Given the description of an element on the screen output the (x, y) to click on. 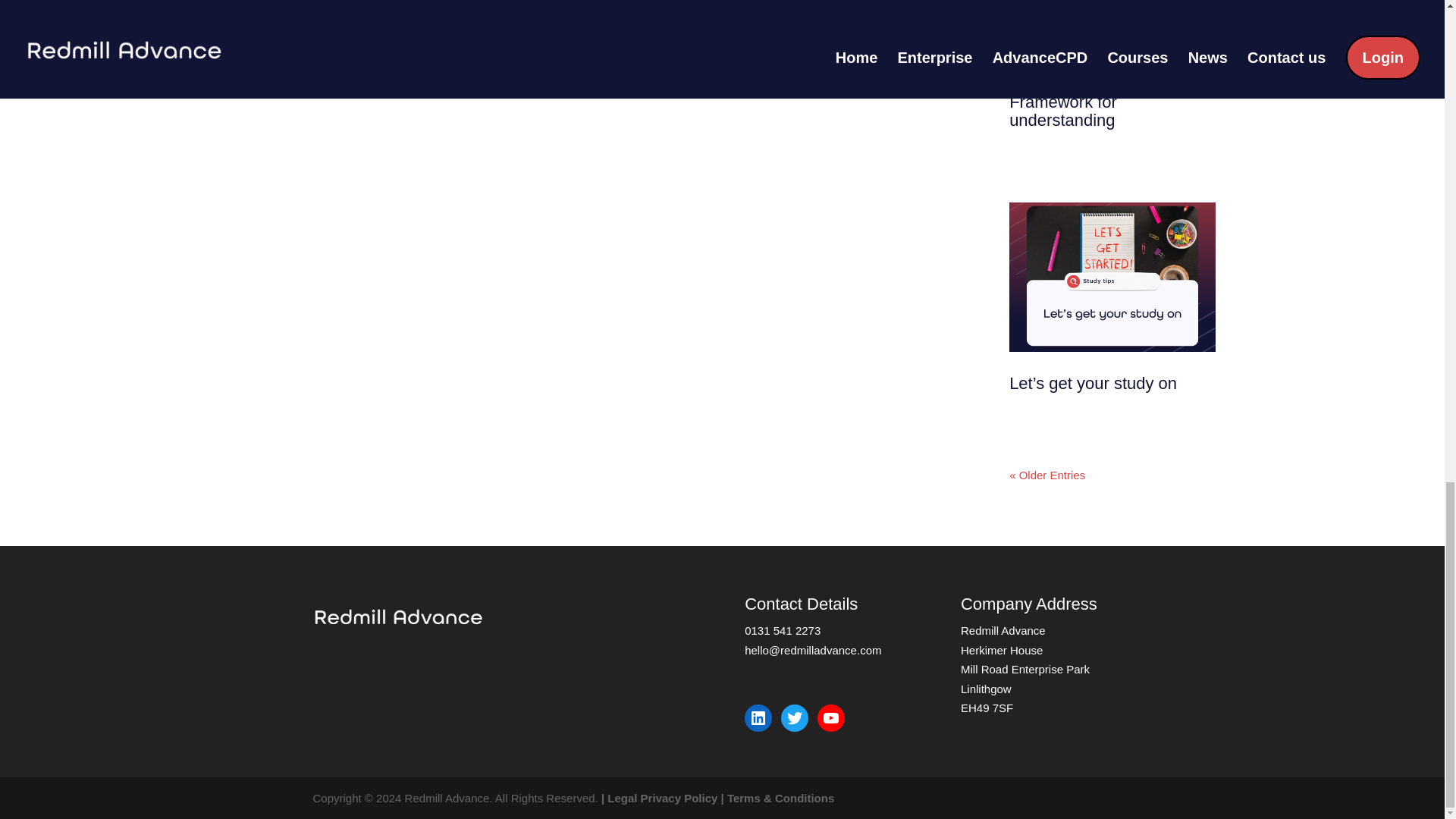
LinkedIn (757, 718)
Twitter (794, 718)
Framework for understanding (1062, 110)
YouTube (830, 718)
